Given the description of an element on the screen output the (x, y) to click on. 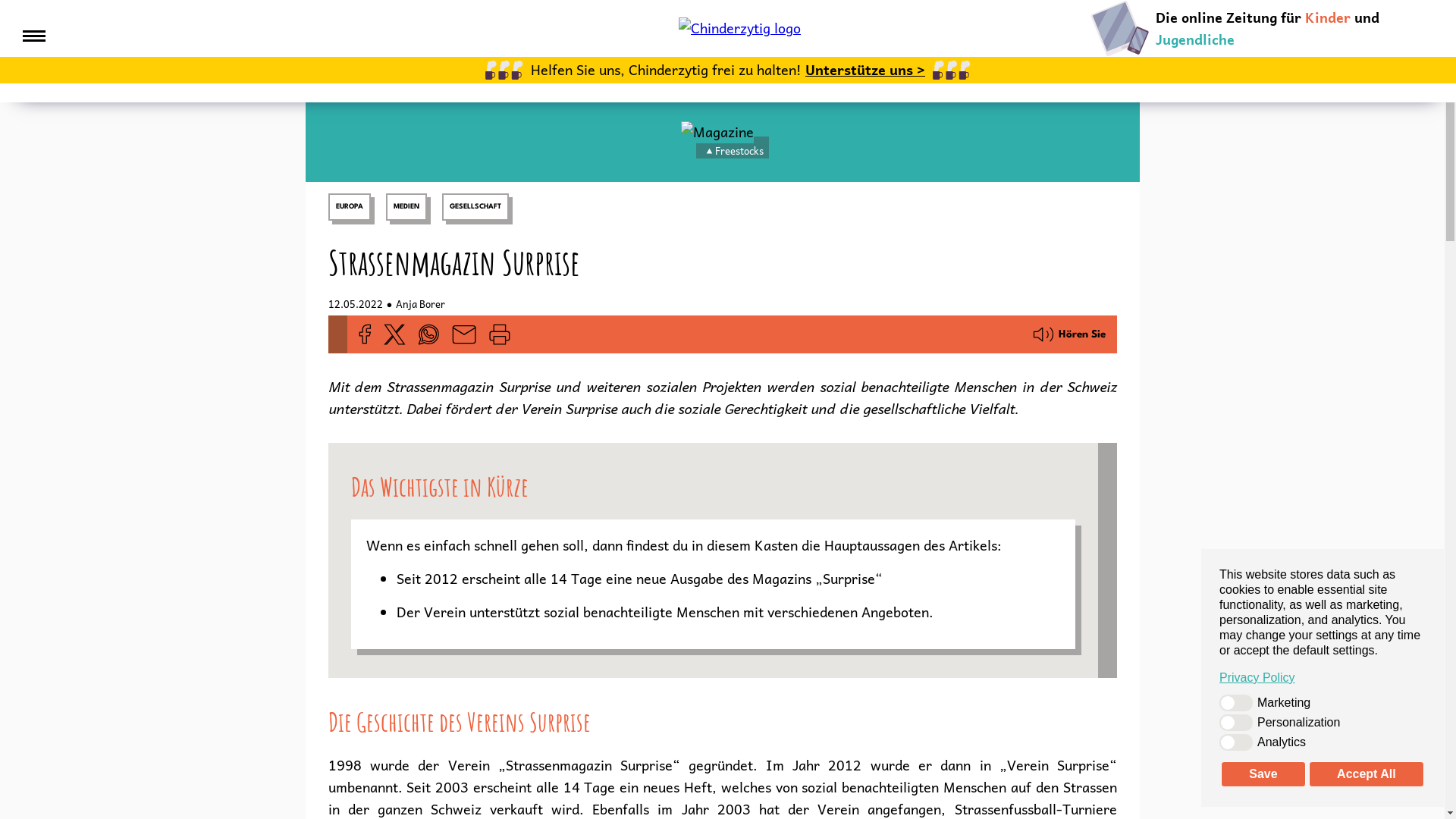
Save Element type: text (1262, 774)
GESELLSCHAFT Element type: text (474, 206)
Privacy Policy Element type: text (1322, 677)
EUROPA Element type: text (348, 206)
Accept All Element type: text (1366, 774)
MEDIEN Element type: text (405, 206)
Freestocks Element type: text (739, 151)
